Given the description of an element on the screen output the (x, y) to click on. 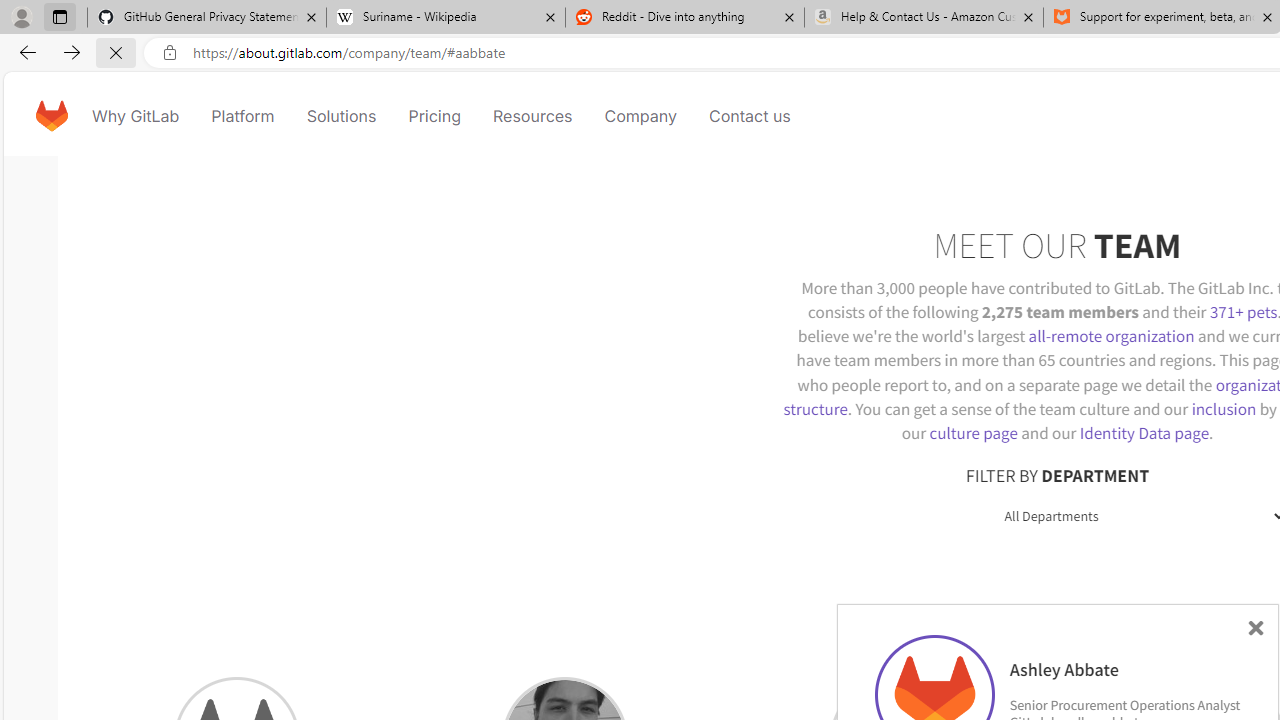
Solutions (341, 115)
Contact us (749, 115)
371+ pets (1243, 311)
Reddit - Dive into anything (684, 17)
Solutions (341, 115)
Why GitLab (136, 115)
Resources (532, 115)
Why GitLab (136, 115)
Help & Contact Us - Amazon Customer Service - Sleeping (924, 17)
Contact us (749, 115)
